Given the description of an element on the screen output the (x, y) to click on. 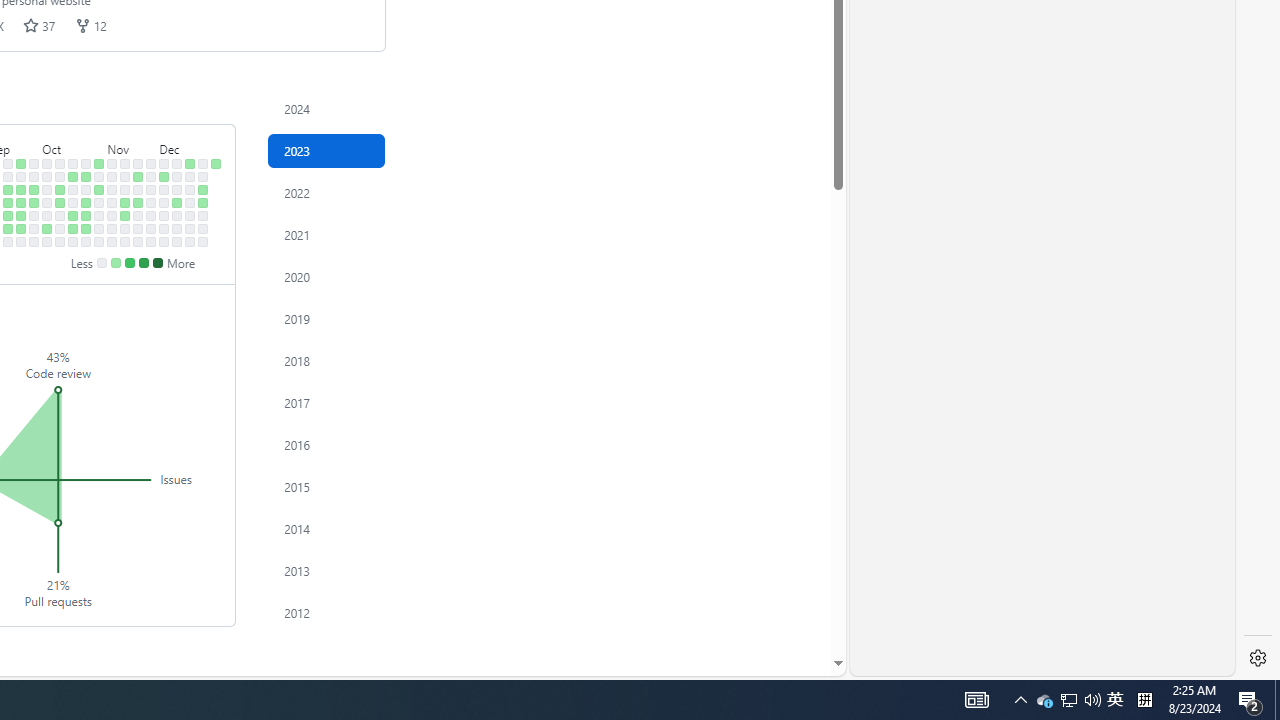
No contributions on September 11th. (8, 176)
No contributions on September 23rd. (20, 241)
1 contribution on October 25th. (86, 202)
2017 (326, 402)
5 contributions on October 6th. (47, 228)
No contributions on November 7th. (112, 189)
No contributions on October 18th. (73, 202)
No contributions on September 18th. (20, 176)
No contributions on December 8th. (164, 228)
No contributions on October 4th. (47, 202)
1 contribution on November 22nd. (138, 202)
1 contribution on December 31st. (216, 163)
2 contributions on October 10th. (60, 189)
No contributions on November 17th. (125, 228)
